Given the description of an element on the screen output the (x, y) to click on. 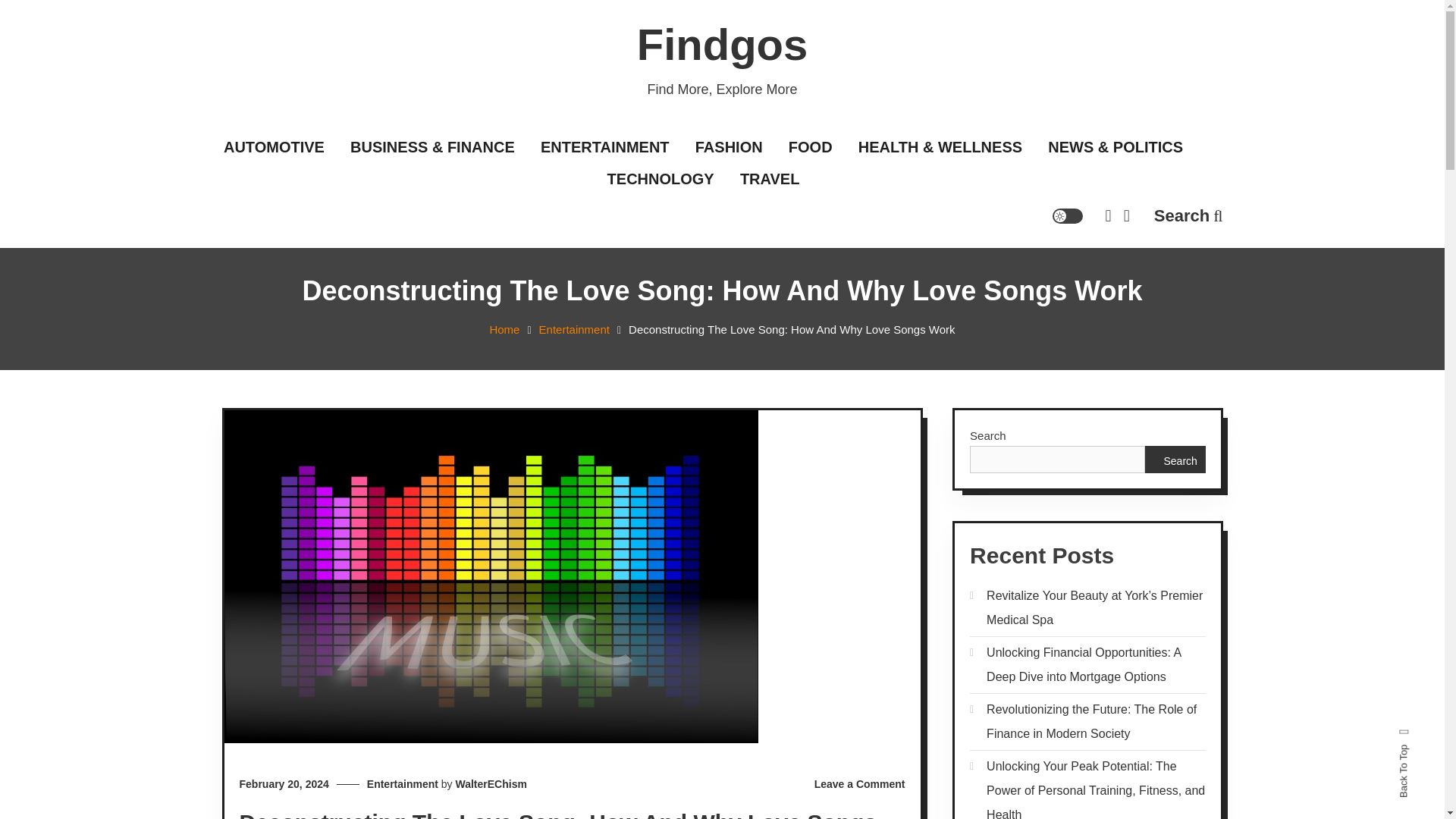
ENTERTAINMENT (604, 147)
AUTOMOTIVE (274, 147)
Findgos (722, 43)
Home (504, 328)
FASHION (728, 147)
Entertainment (574, 328)
TECHNOLOGY (660, 179)
TRAVEL (769, 179)
FOOD (810, 147)
Search (1188, 215)
Search (768, 432)
WalterEChism (489, 784)
site mode button (1067, 215)
February 20, 2024 (284, 784)
